Given the description of an element on the screen output the (x, y) to click on. 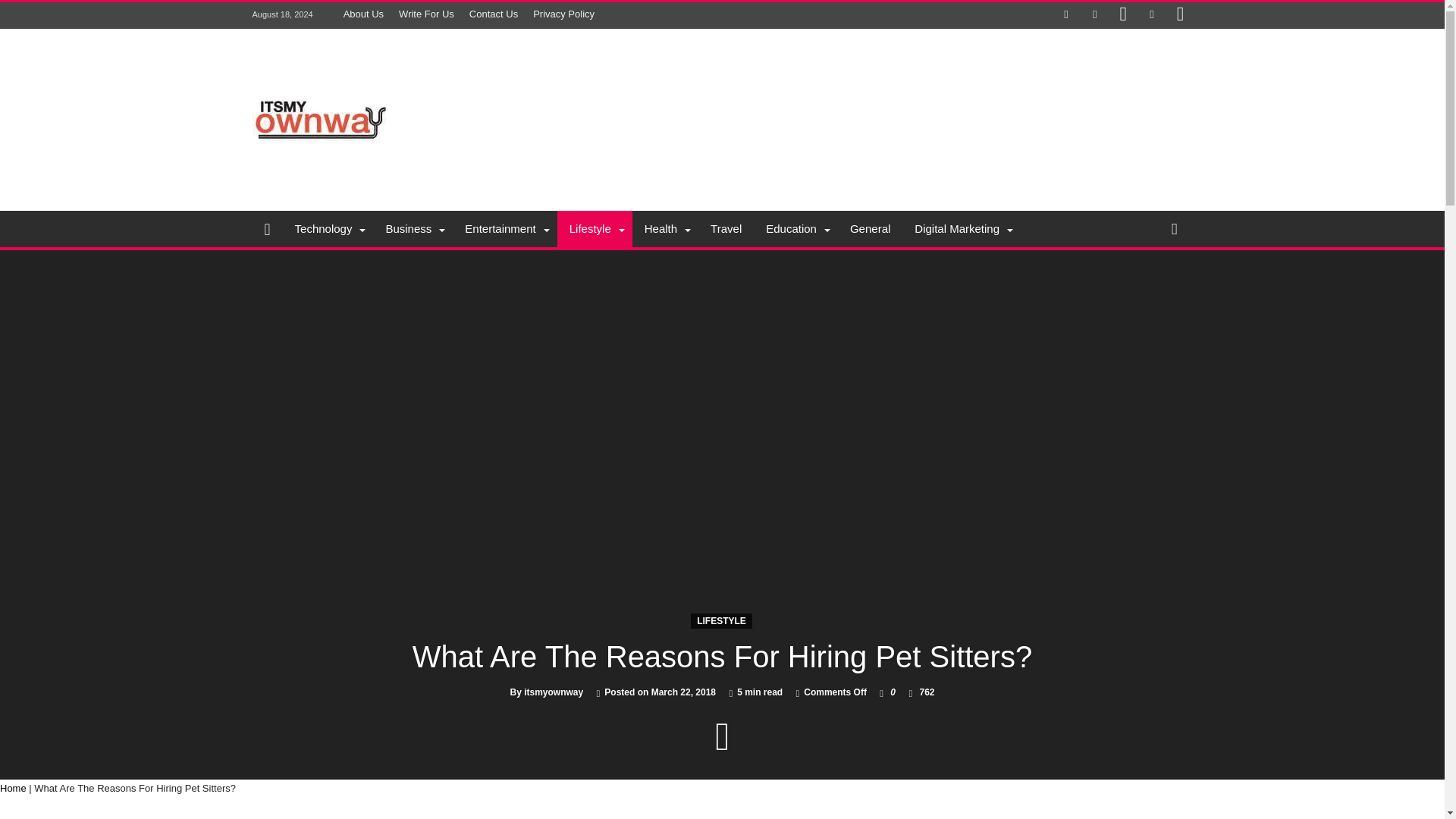
Business (412, 228)
Lifestyle (594, 228)
Technology (328, 228)
Health (664, 228)
About Us (363, 14)
Education (796, 228)
Privacy Policy (563, 14)
Pinterest (1122, 15)
Contact Us (493, 14)
LinkedIn (1151, 15)
